Given the description of an element on the screen output the (x, y) to click on. 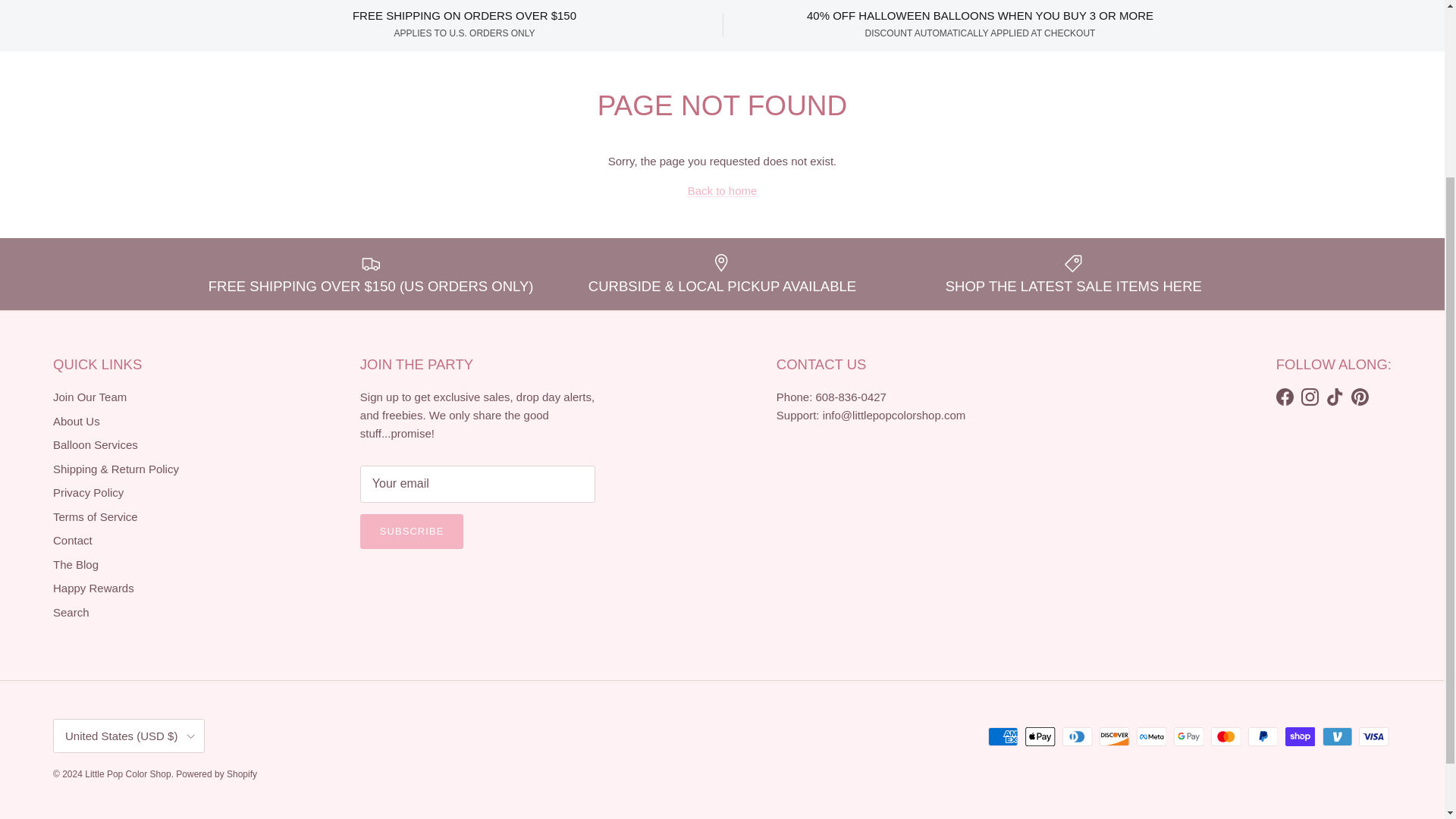
Little Pop Color Shop on Facebook (1285, 396)
Little Pop Color Shop on Pinterest (1359, 396)
Diners Club (1077, 736)
Little Pop Color Shop on Instagram (1310, 396)
American Express (1002, 736)
Discover (1114, 736)
Meta Pay (1151, 736)
Little Pop Color Shop on TikTok (1334, 396)
Apple Pay (1040, 736)
Google Pay (1188, 736)
